Given the description of an element on the screen output the (x, y) to click on. 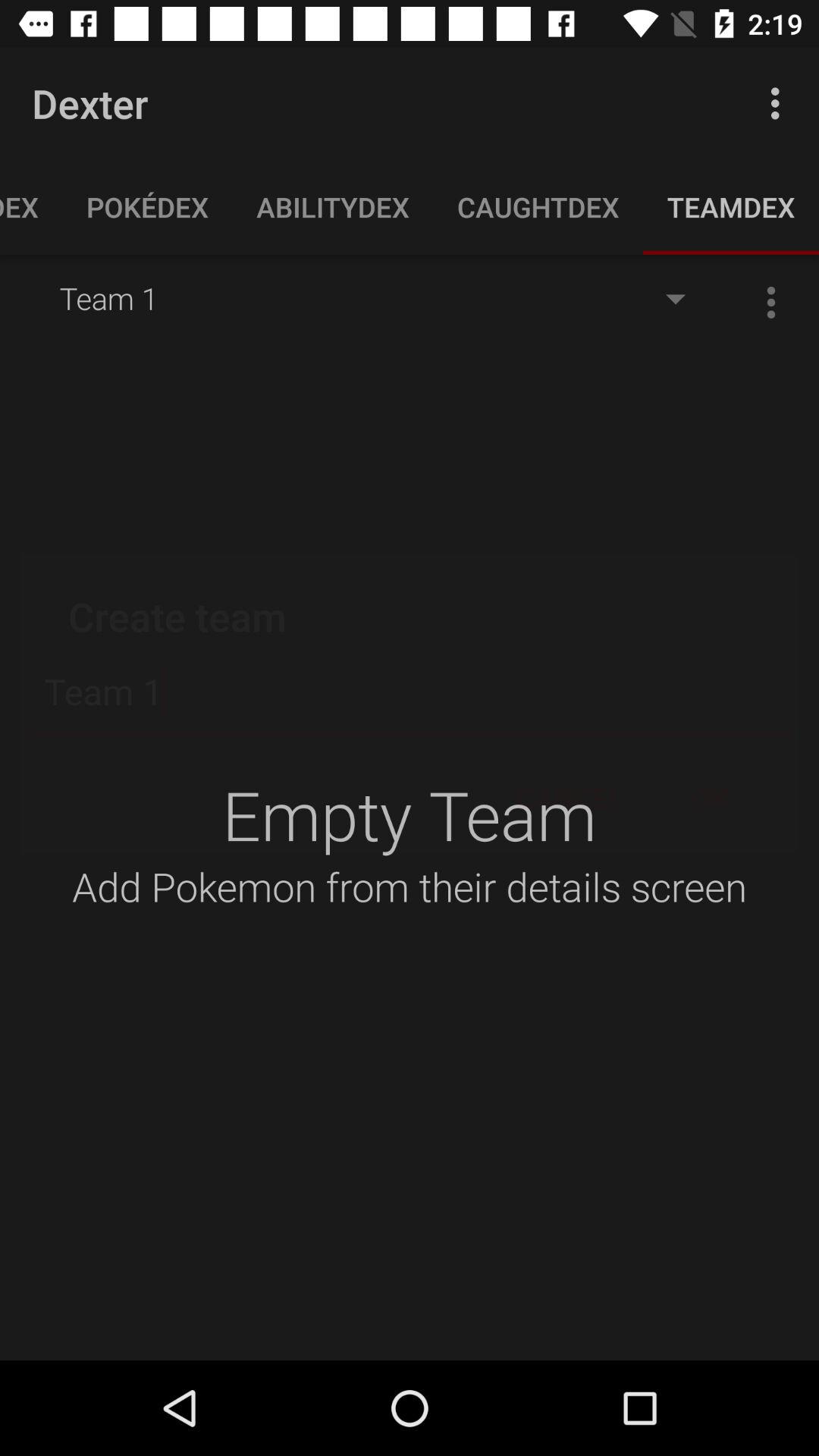
turn on the icon above teamdex (779, 103)
